Given the description of an element on the screen output the (x, y) to click on. 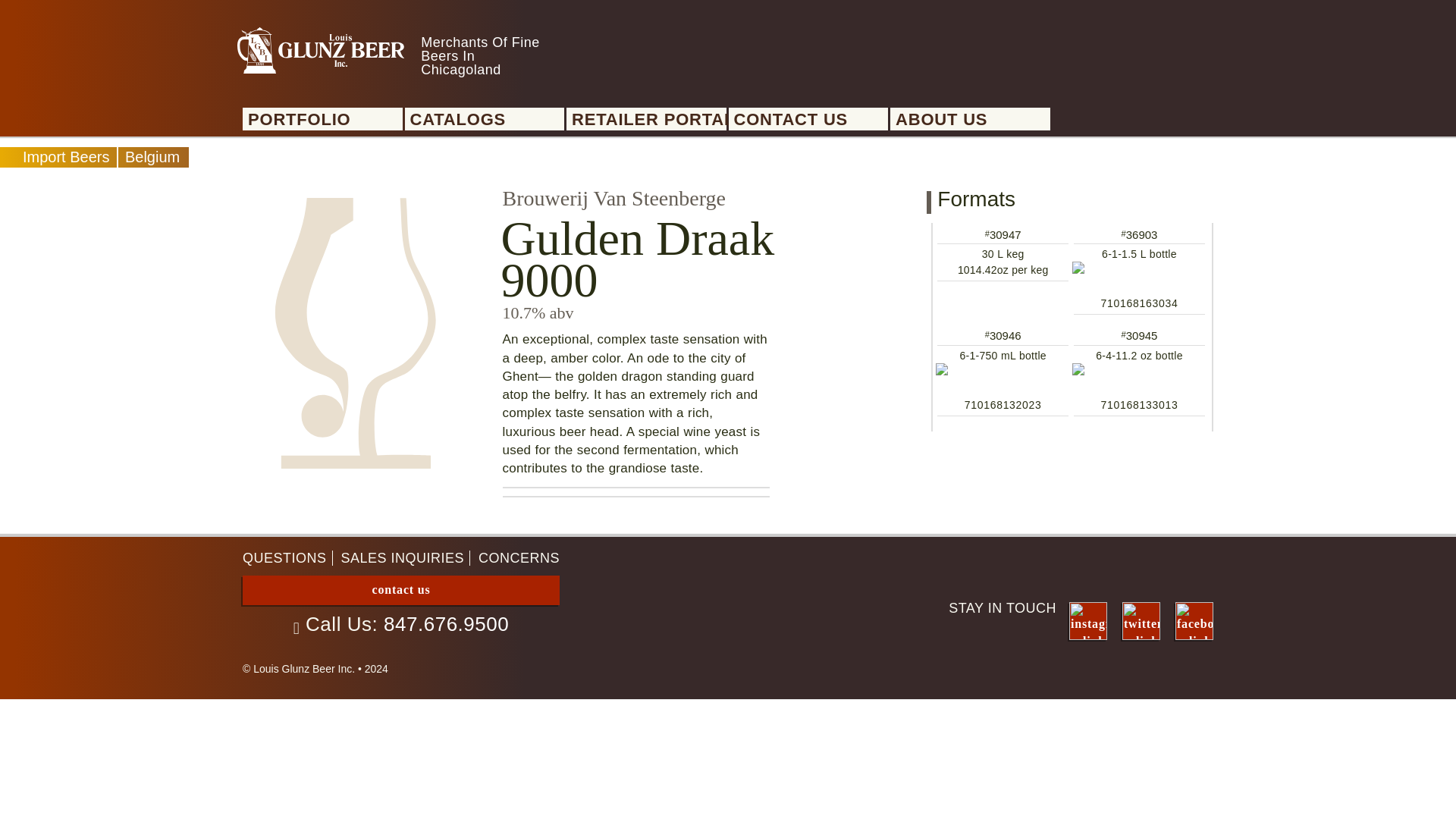
facebook link (1193, 620)
847.676.9500 (446, 623)
PORTFOLIO (325, 119)
CONTACT US (810, 119)
Brouwerij Van Steenberge (613, 197)
Belgium (152, 156)
RETAILER PORTAL (649, 119)
Import Beers (66, 156)
contact us (401, 590)
contact us (401, 589)
Louis Glunz Beer Inc. (320, 50)
instagram link (1087, 620)
twitter link (1141, 620)
CATALOGS (486, 119)
ABOUT US (972, 119)
